Given the description of an element on the screen output the (x, y) to click on. 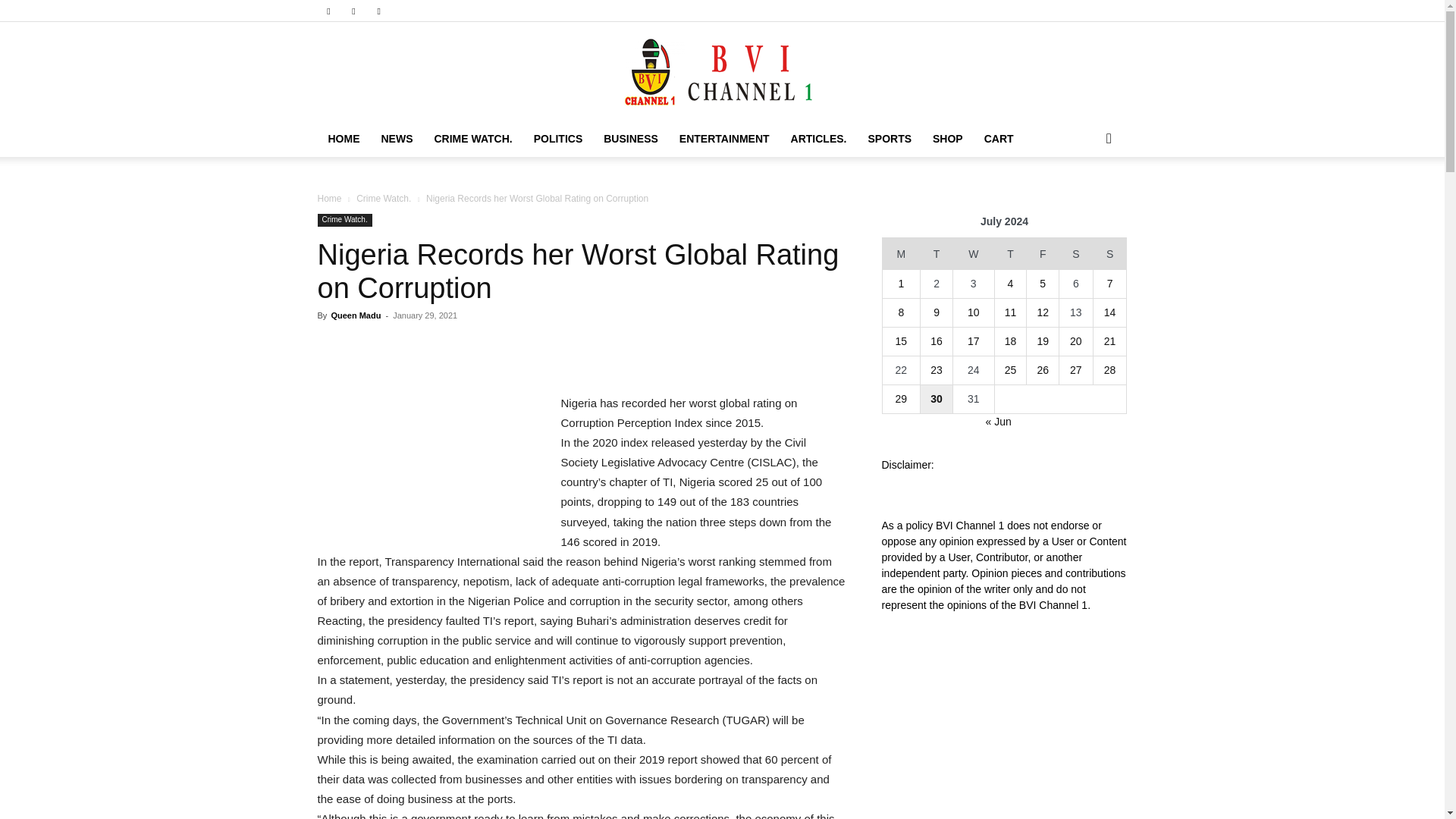
HOME (343, 138)
BVI CHANNEL 1 (721, 71)
Youtube (379, 10)
Twitter (353, 10)
NEWS (396, 138)
View all posts in Crime Watch. (383, 198)
CRIME WATCH. (472, 138)
BVI CHANNEL 1 (721, 71)
Facebook (328, 10)
